Given the description of an element on the screen output the (x, y) to click on. 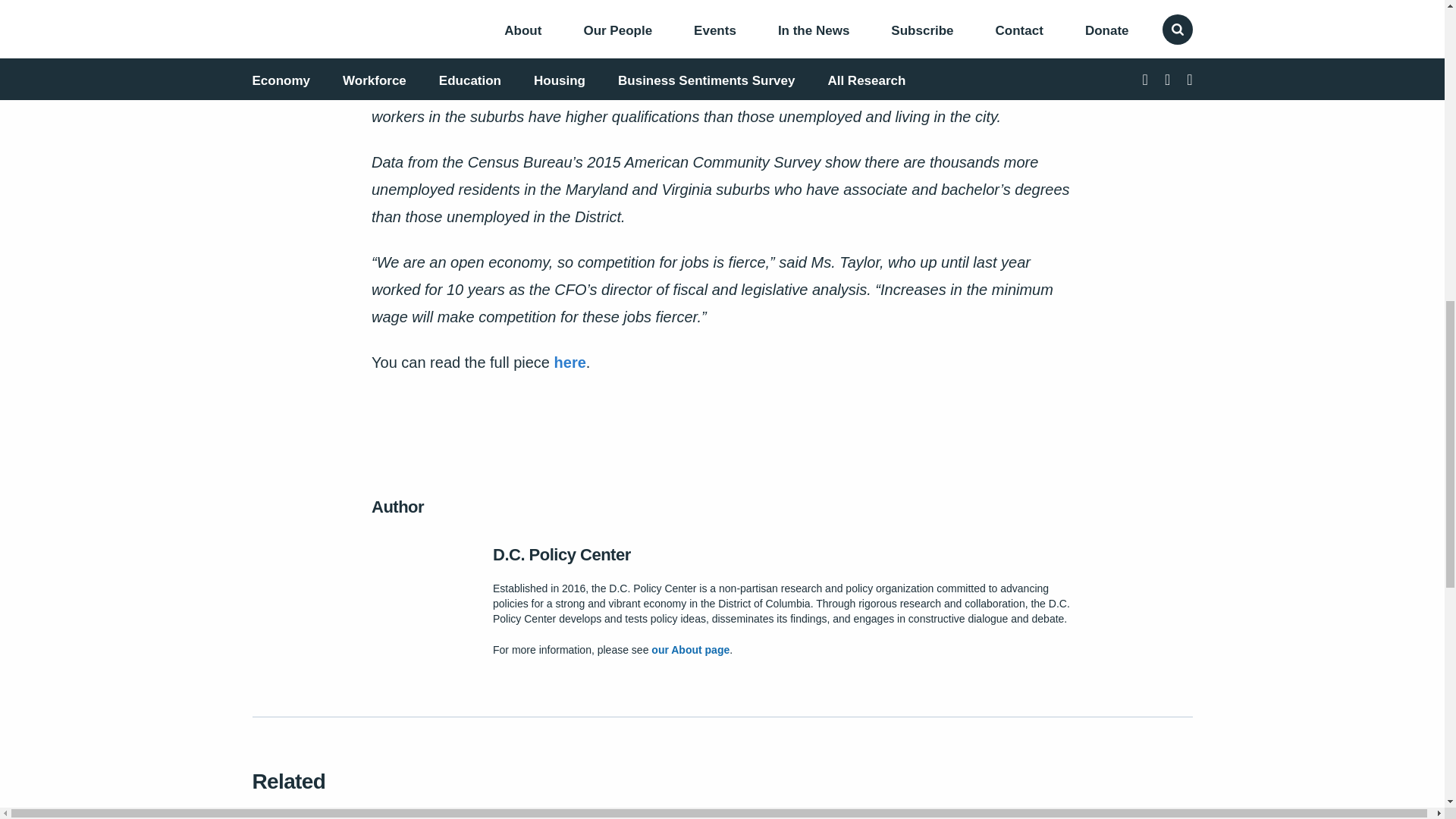
Share by Email (269, 18)
